Given the description of an element on the screen output the (x, y) to click on. 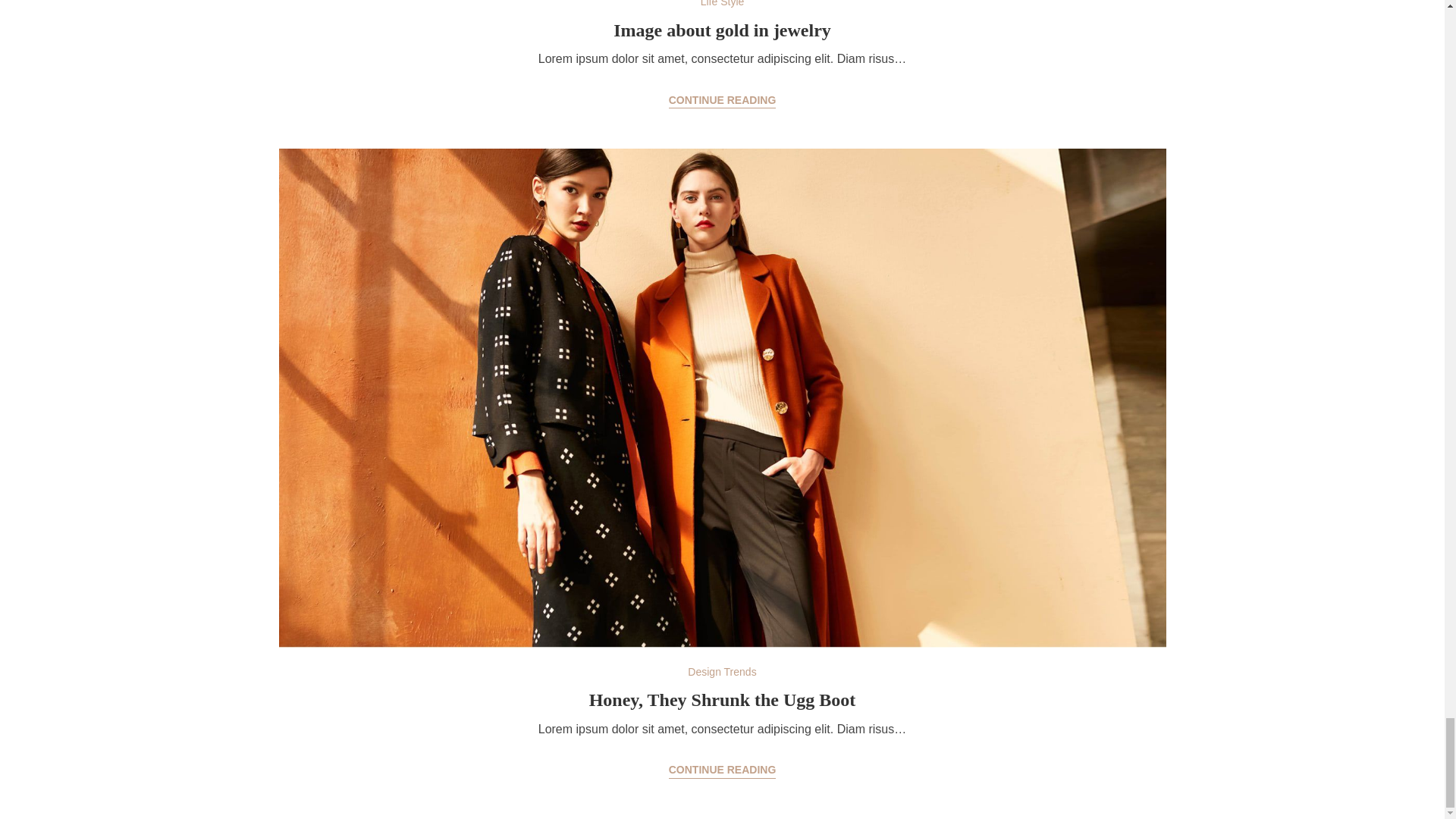
Image about gold in jewelry (722, 99)
Honey, They Shrunk the Ugg Boot (722, 769)
Image about gold in jewelry (721, 30)
Honey, They Shrunk the Ugg Boot (722, 700)
